Given the description of an element on the screen output the (x, y) to click on. 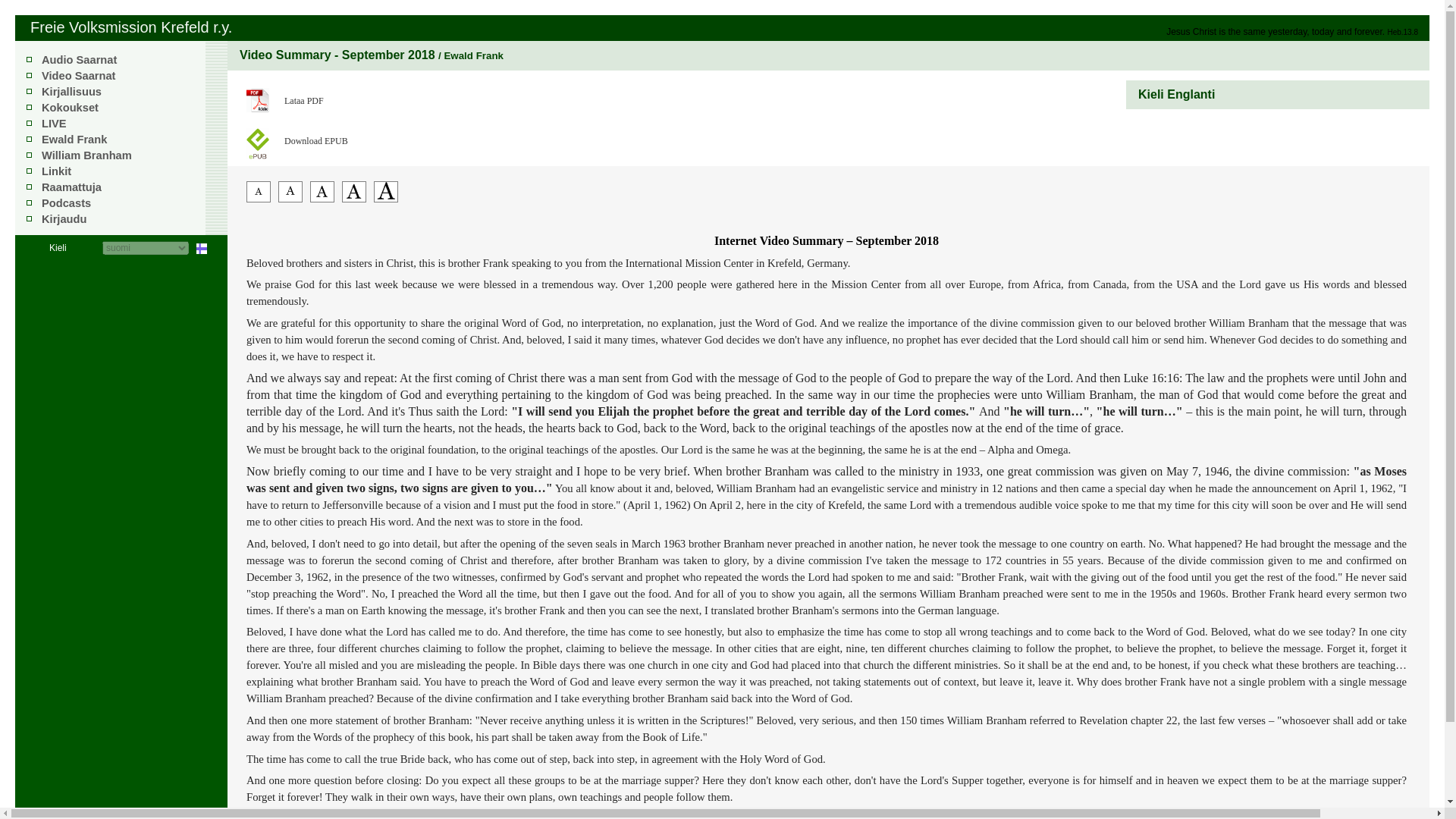
normal size (322, 197)
Ewald Frank (74, 139)
LIVE (54, 123)
Kirjallisuus (71, 91)
Linkit (56, 171)
Podcasts (66, 203)
Raamattuja (71, 186)
Video Saarnat (78, 75)
Kirjaudu (63, 218)
William Branham (87, 155)
Kirjallisuus (71, 91)
Kirjaudu (63, 218)
large size (354, 197)
Download EPUB (337, 137)
Ewaldd Frank (74, 139)
